Given the description of an element on the screen output the (x, y) to click on. 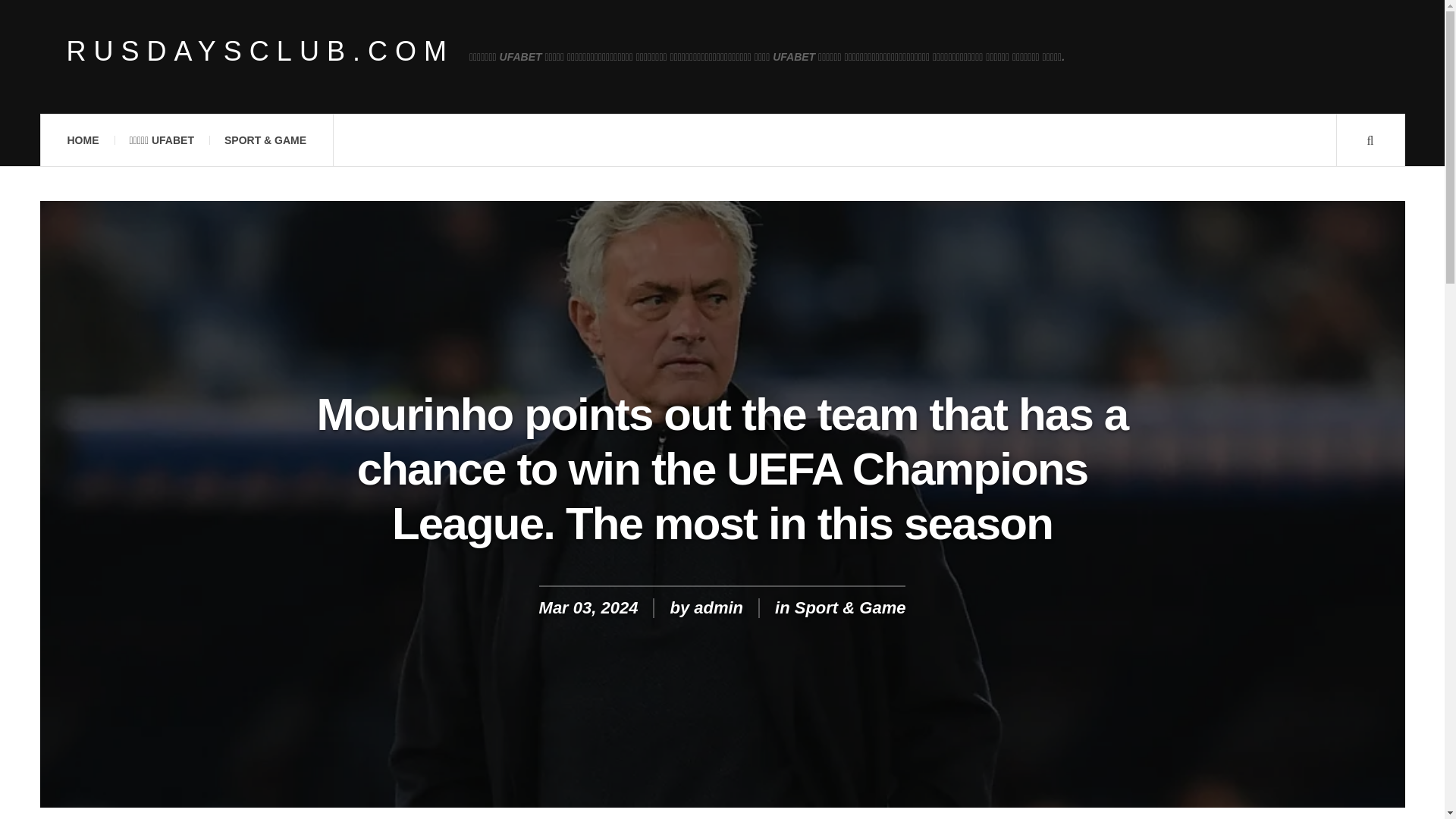
admin (718, 607)
HOME (81, 140)
RUSDAYSCLUB.COM (260, 51)
rusdaysclub.com (260, 51)
